Given the description of an element on the screen output the (x, y) to click on. 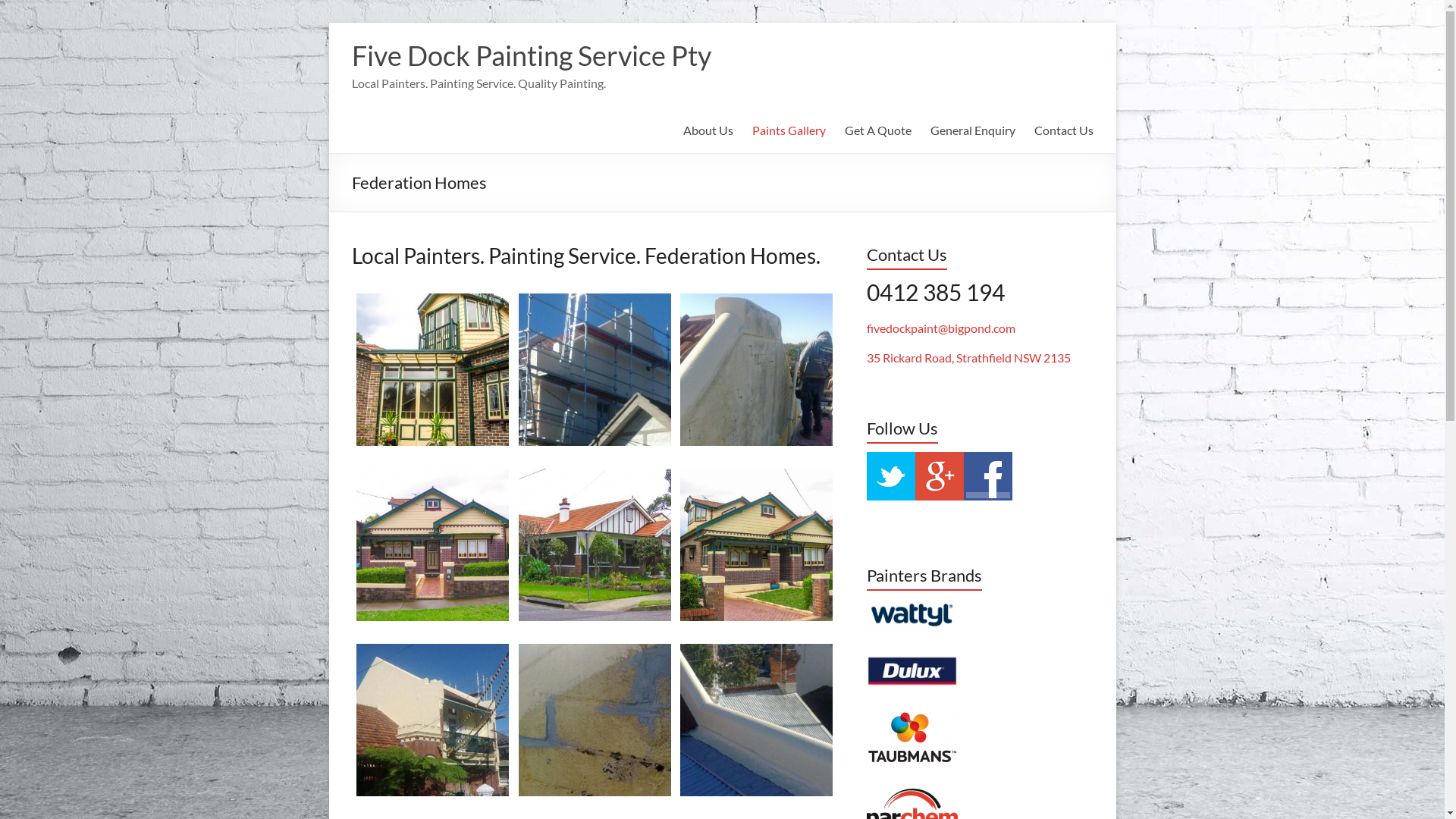
35 Rickard Road, Strathfield NSW 2135 Element type: text (968, 357)
fivedockpaint@bigpond.com Element type: text (940, 327)
Paints Gallery Element type: text (788, 130)
Contact Us Element type: text (1063, 130)
General Enquiry Element type: text (971, 130)
Five Dock Painting Service Pty Element type: text (531, 55)
Get A Quote Element type: text (877, 130)
About Us Element type: text (707, 130)
